Given the description of an element on the screen output the (x, y) to click on. 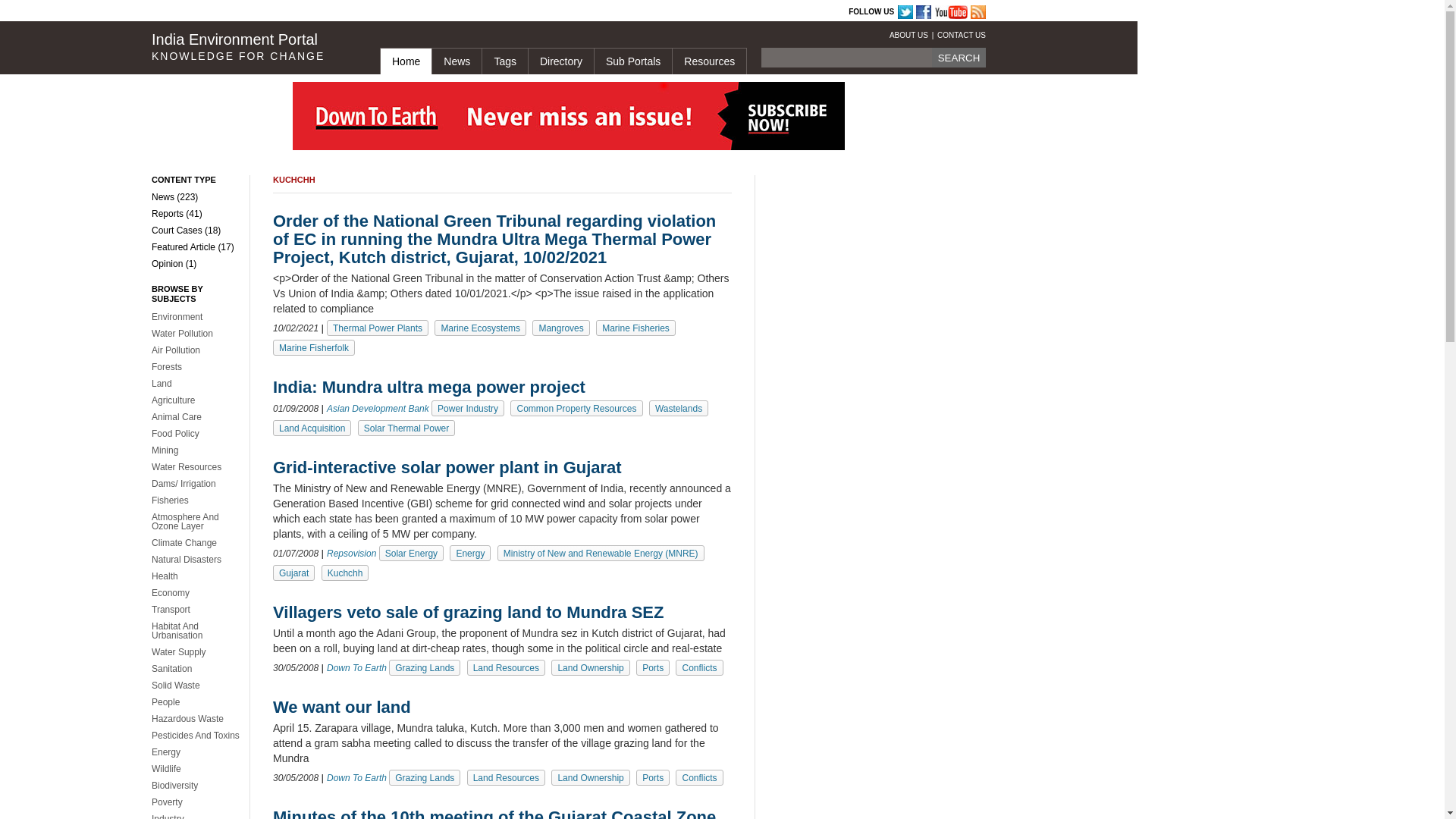
India Environment Portal KNOWLEDGE FOR CHANGE (253, 46)
India Environment Portal (540, 11)
CSE Store (500, 11)
Directory (560, 60)
Sub Portals (632, 60)
CSE (256, 11)
Renewable Energy (631, 11)
Home (405, 60)
Resources (708, 60)
Gobar Times (368, 11)
Down to Earth (311, 11)
News (455, 60)
Rain Water Harvesting (418, 11)
Tags (504, 60)
